Given the description of an element on the screen output the (x, y) to click on. 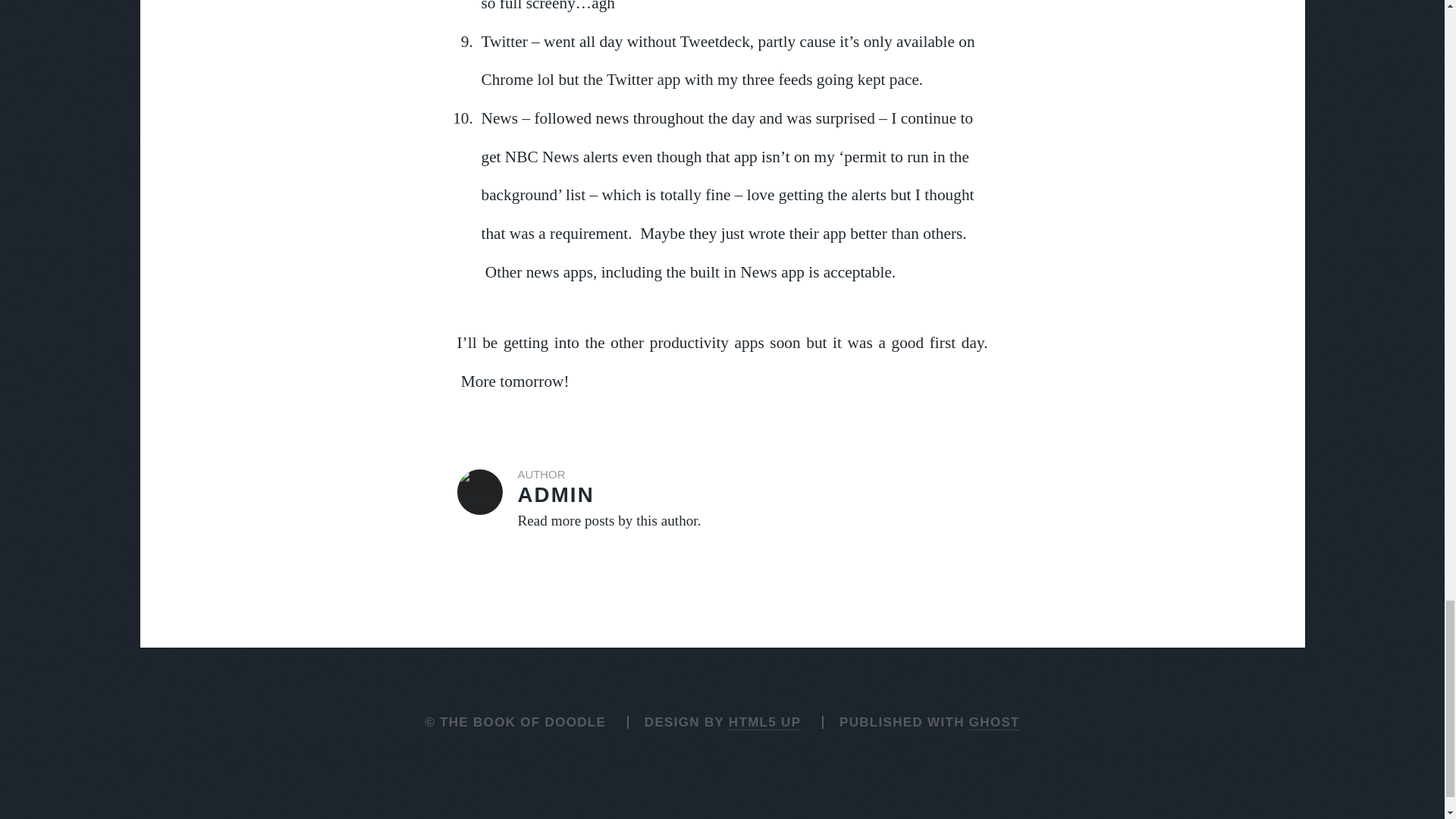
GHOST (994, 722)
HTML5 UP (764, 722)
